Given the description of an element on the screen output the (x, y) to click on. 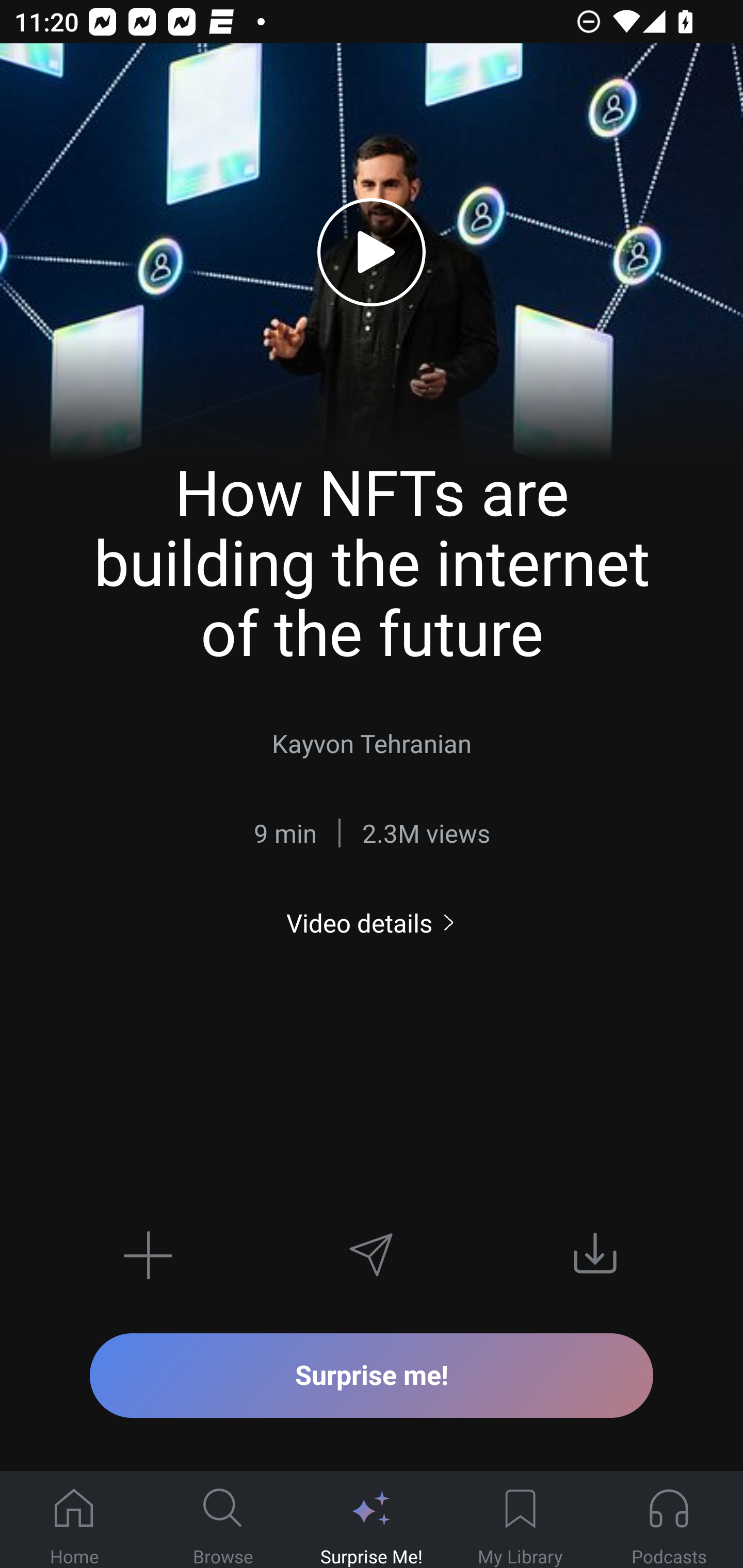
Video details (371, 922)
Surprise me! (371, 1374)
Home (74, 1520)
Browse (222, 1520)
Surprise Me! (371, 1520)
My Library (519, 1520)
Podcasts (668, 1520)
